Given the description of an element on the screen output the (x, y) to click on. 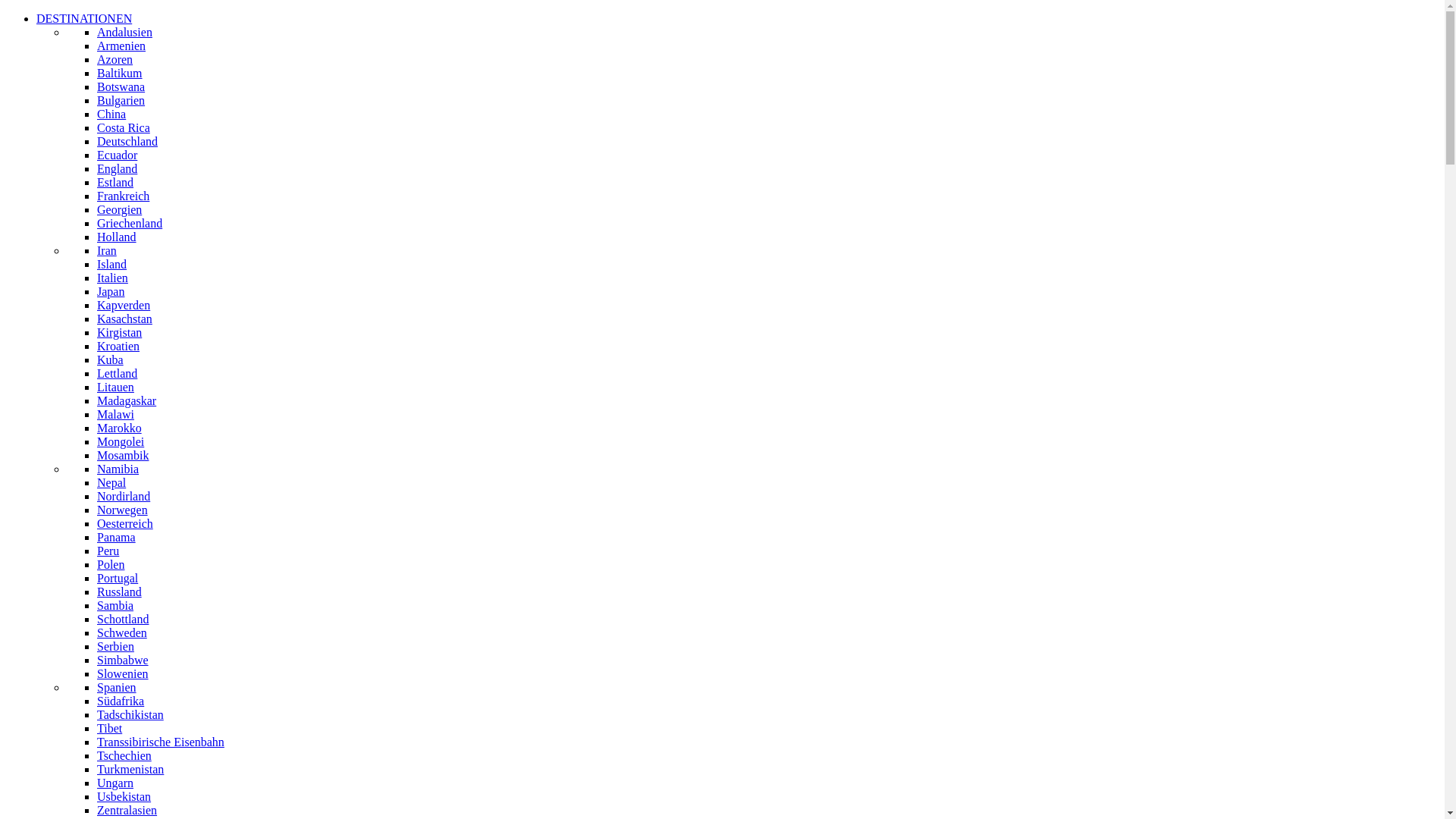
Peru Element type: text (108, 550)
Lettland Element type: text (117, 373)
Andalusien Element type: text (124, 31)
Usbekistan Element type: text (123, 796)
Turkmenistan Element type: text (130, 768)
England Element type: text (117, 168)
Bulgarien Element type: text (120, 100)
Litauen Element type: text (115, 386)
Russland Element type: text (119, 591)
Malawi Element type: text (115, 413)
Italien Element type: text (112, 277)
Portugal Element type: text (117, 577)
Deutschland Element type: text (127, 140)
Schweden Element type: text (122, 632)
Zentralasien Element type: text (126, 809)
Namibia Element type: text (117, 468)
Norwegen Element type: text (122, 509)
DESTINATIONEN Element type: text (83, 18)
Sambia Element type: text (115, 605)
Marokko Element type: text (119, 427)
Kapverden Element type: text (123, 304)
Iran Element type: text (106, 250)
Estland Element type: text (115, 181)
Georgien Element type: text (119, 209)
Nepal Element type: text (111, 482)
Kirgistan Element type: text (119, 332)
Botswana Element type: text (120, 86)
Azoren Element type: text (114, 59)
Transsibirische Eisenbahn Element type: text (160, 741)
Holland Element type: text (116, 236)
Tadschikistan Element type: text (130, 714)
China Element type: text (111, 113)
Oesterreich Element type: text (125, 523)
Griechenland Element type: text (129, 222)
Japan Element type: text (110, 291)
Frankreich Element type: text (123, 195)
Mongolei Element type: text (120, 441)
Panama Element type: text (116, 536)
Madagaskar Element type: text (126, 400)
Kuba Element type: text (110, 359)
Polen Element type: text (110, 564)
Slowenien Element type: text (122, 673)
Ungarn Element type: text (115, 782)
Simbabwe Element type: text (122, 659)
Tschechien Element type: text (124, 755)
Ecuador Element type: text (117, 154)
Armenien Element type: text (121, 45)
Spanien Element type: text (116, 686)
Nordirland Element type: text (123, 495)
Kroatien Element type: text (118, 345)
Island Element type: text (111, 263)
Tibet Element type: text (109, 727)
Kasachstan Element type: text (124, 318)
Serbien Element type: text (115, 646)
Mosambik Element type: text (122, 454)
Baltikum Element type: text (119, 72)
Schottland Element type: text (122, 618)
Costa Rica Element type: text (123, 127)
